Given the description of an element on the screen output the (x, y) to click on. 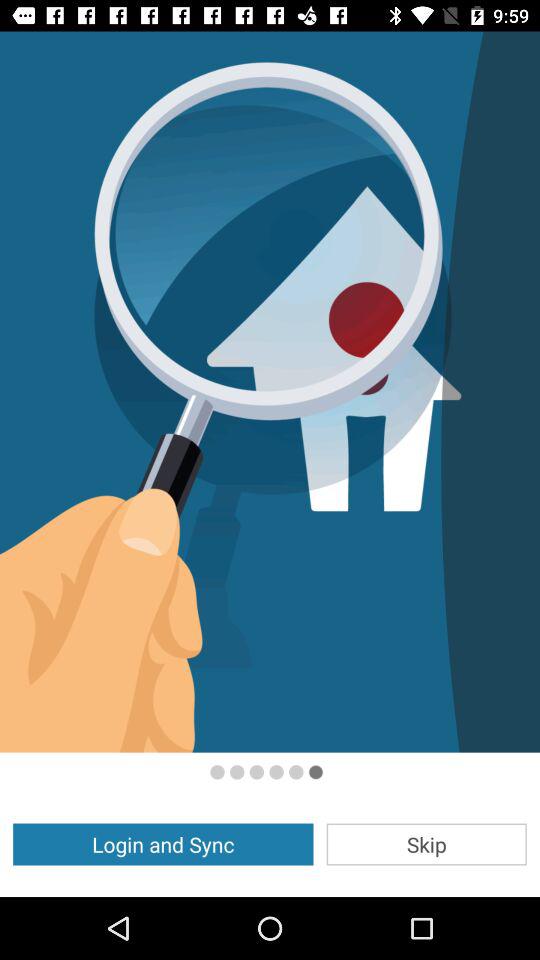
select the item at the bottom left corner (163, 844)
